Given the description of an element on the screen output the (x, y) to click on. 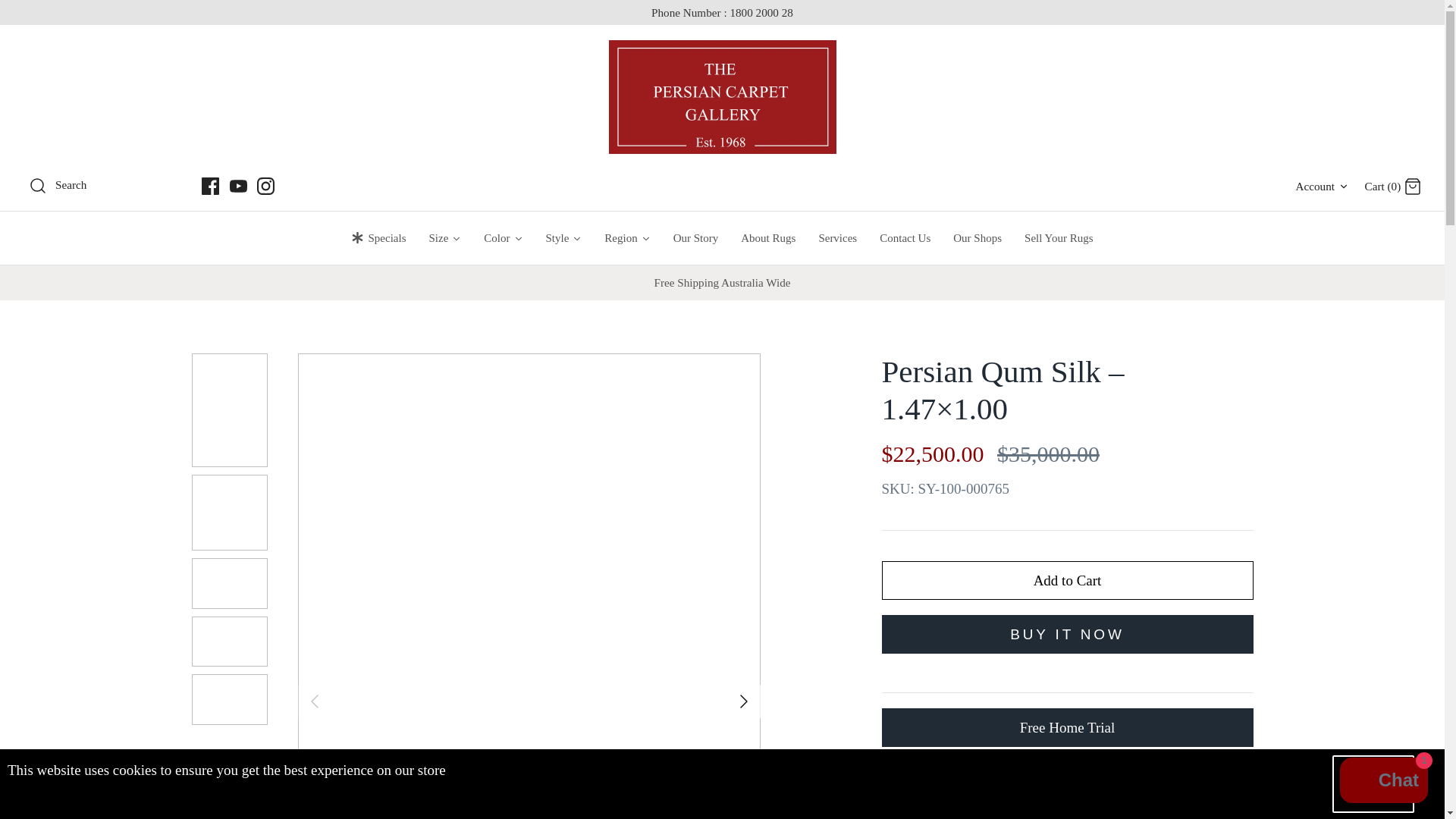
Facebook (210, 185)
Right (742, 701)
Region (626, 237)
Cart (1412, 186)
Shopify online store chat (1383, 781)
Left (313, 701)
Our Shops (977, 237)
Youtube (237, 185)
Style (563, 237)
Services (836, 237)
Free Shipping Australia Wide (1323, 186)
Style (721, 282)
Add to Cart (563, 237)
Region (1066, 580)
